Given the description of an element on the screen output the (x, y) to click on. 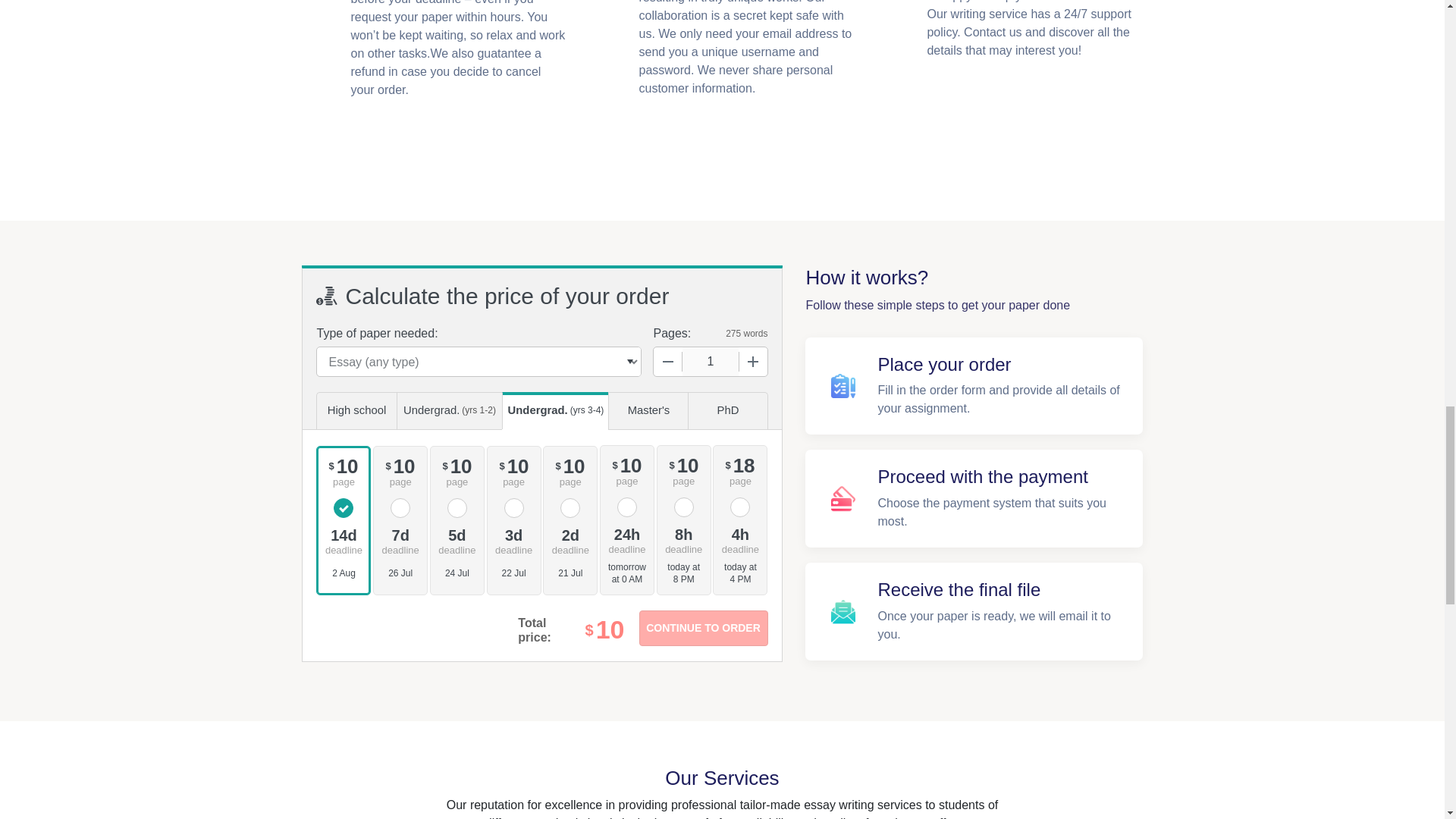
Continue to order (703, 628)
1 (710, 361)
Increase (752, 361)
Continue to order (703, 628)
Decrease (667, 361)
